Given the description of an element on the screen output the (x, y) to click on. 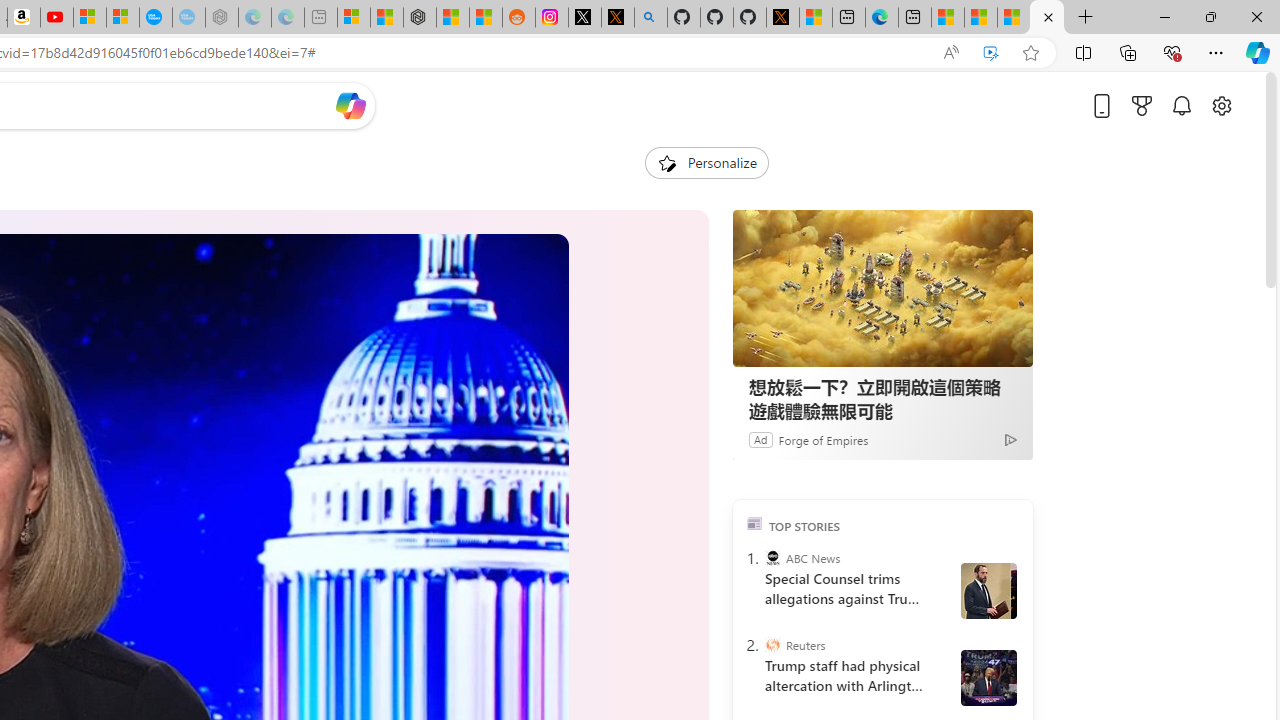
Ad Choice (1010, 439)
Opinion: Op-Ed and Commentary - USA TODAY (155, 17)
The most popular Google 'how to' searches - Sleeping (188, 17)
Day 1: Arriving in Yemen (surreal to be here) - YouTube (56, 17)
X Privacy Policy (782, 17)
MSNBC - MSN (981, 17)
Welcome to Microsoft Edge (882, 17)
Nordace - Nordace has arrived Hong Kong - Sleeping (222, 17)
Shanghai, China Weather trends | Microsoft Weather (485, 17)
